Given the description of an element on the screen output the (x, y) to click on. 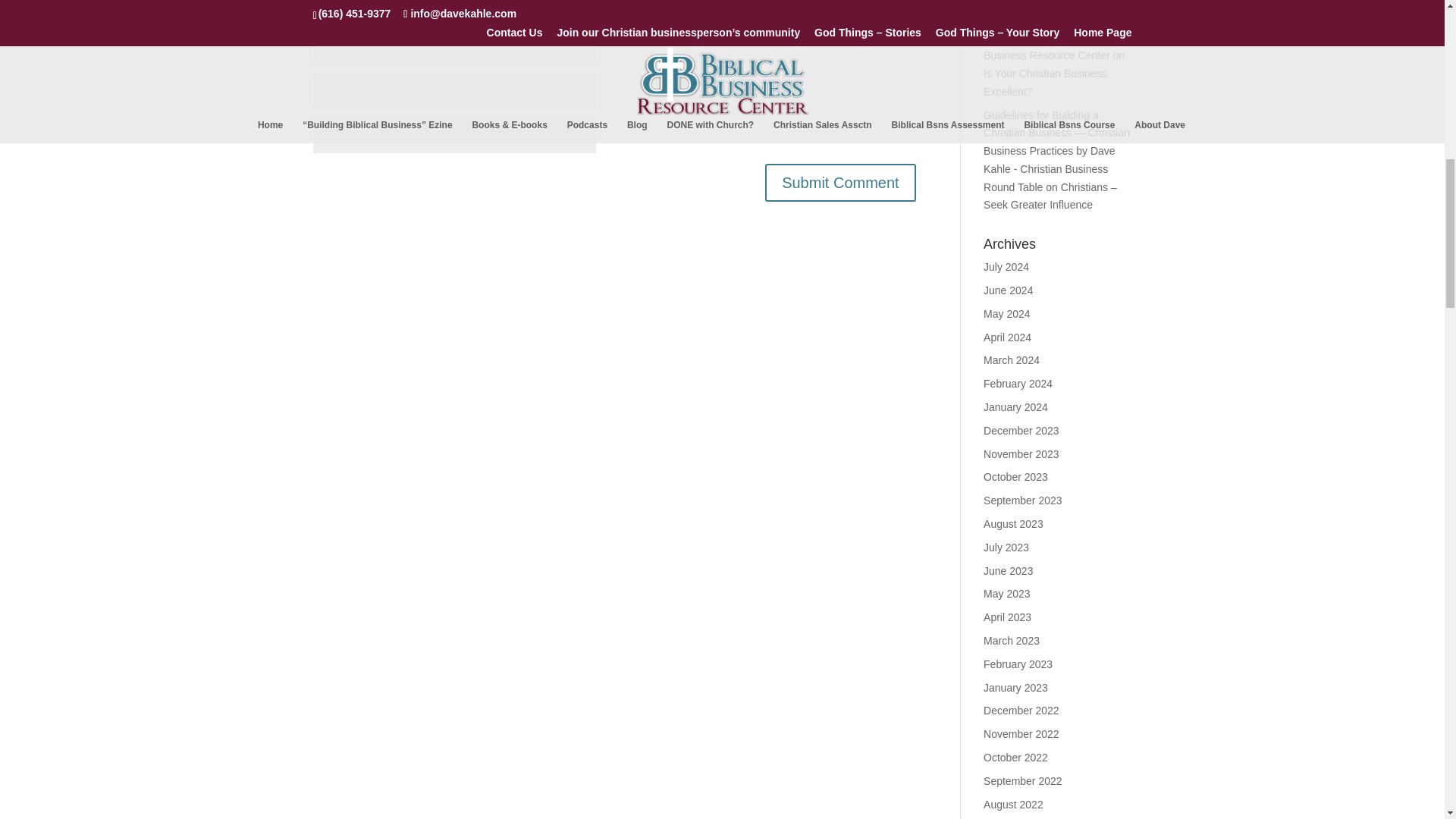
Submit Comment (840, 182)
Submit Comment (840, 182)
